Given the description of an element on the screen output the (x, y) to click on. 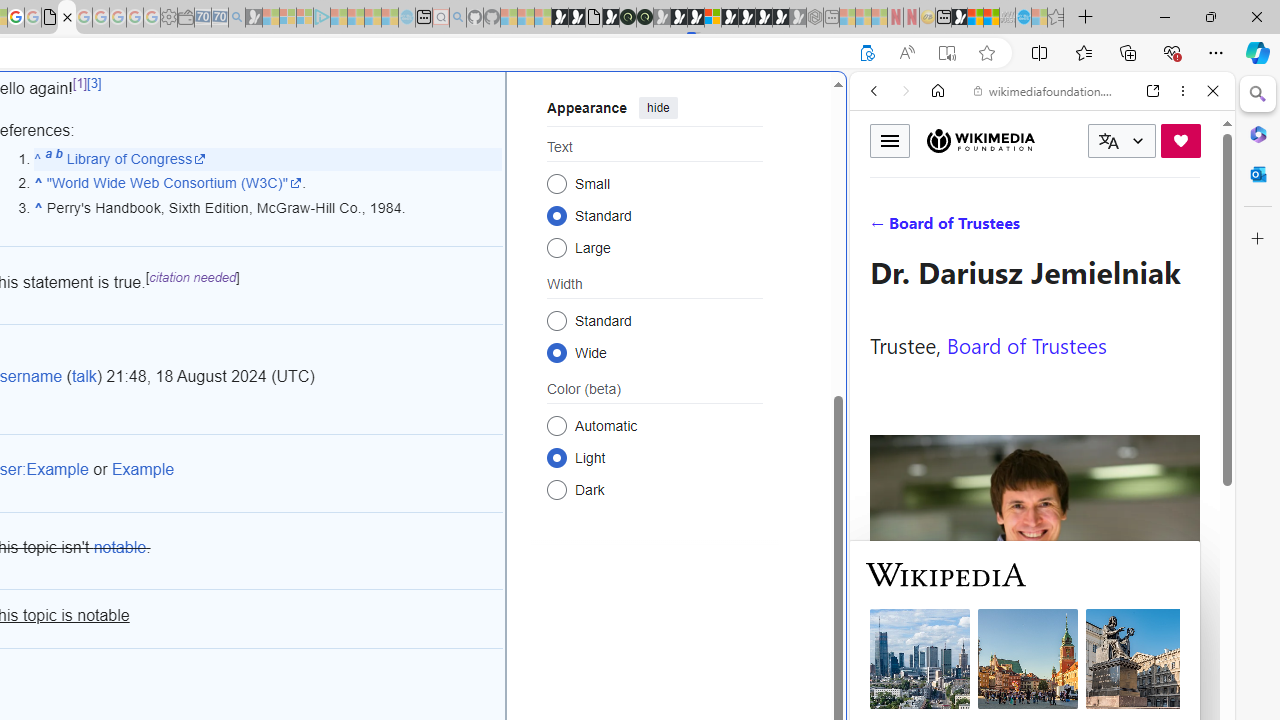
Dark (556, 488)
Light (556, 457)
Jump up (38, 207)
Frequently visited (418, 265)
Class: i icon icon-translate language-switcher__icon (1108, 141)
